Given the description of an element on the screen output the (x, y) to click on. 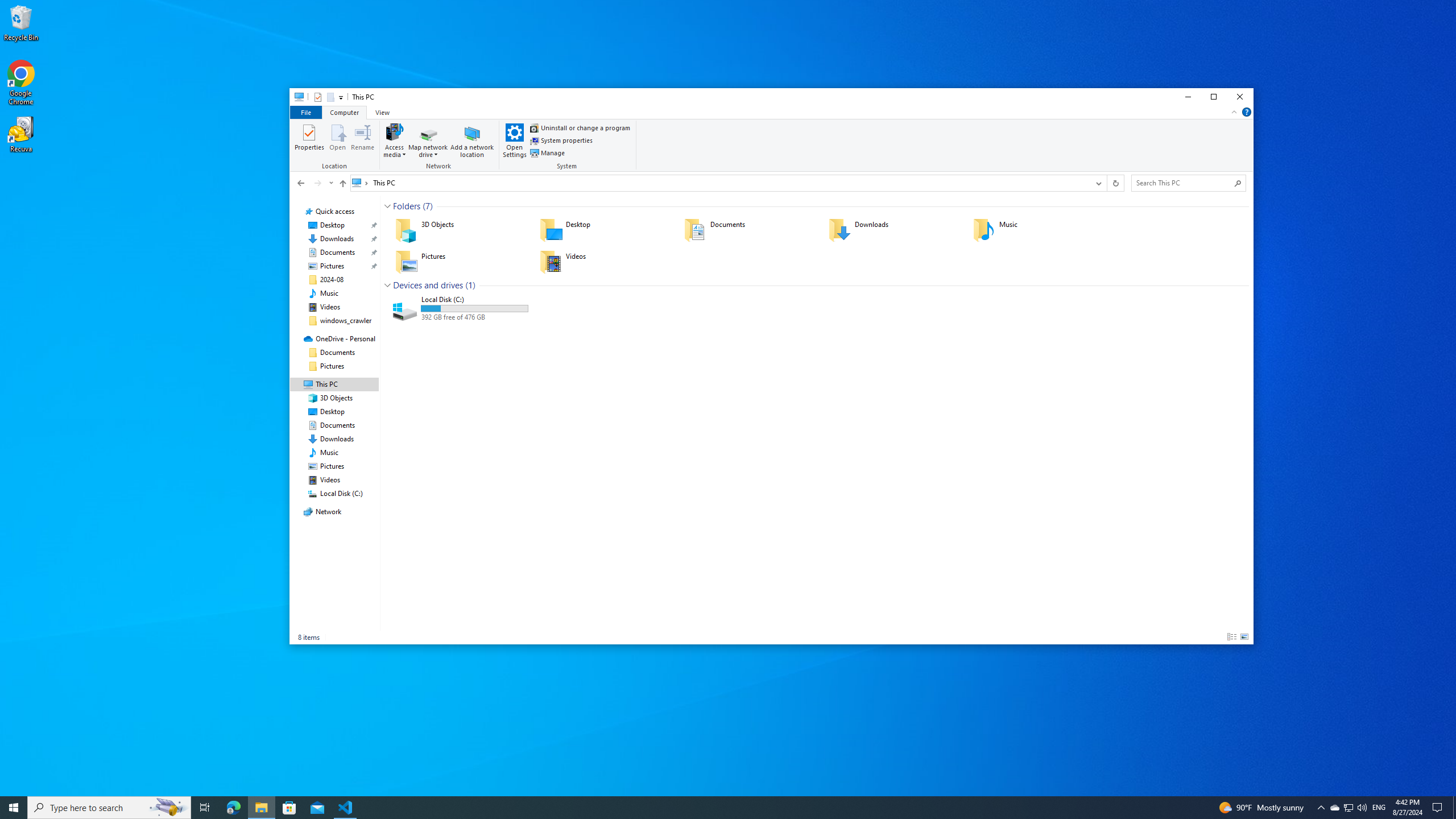
Count (470, 285)
Close (1240, 96)
All locations (360, 182)
Large Icons (1243, 636)
Documents (pinned) (337, 252)
Address band toolbar (1106, 182)
